Given the description of an element on the screen output the (x, y) to click on. 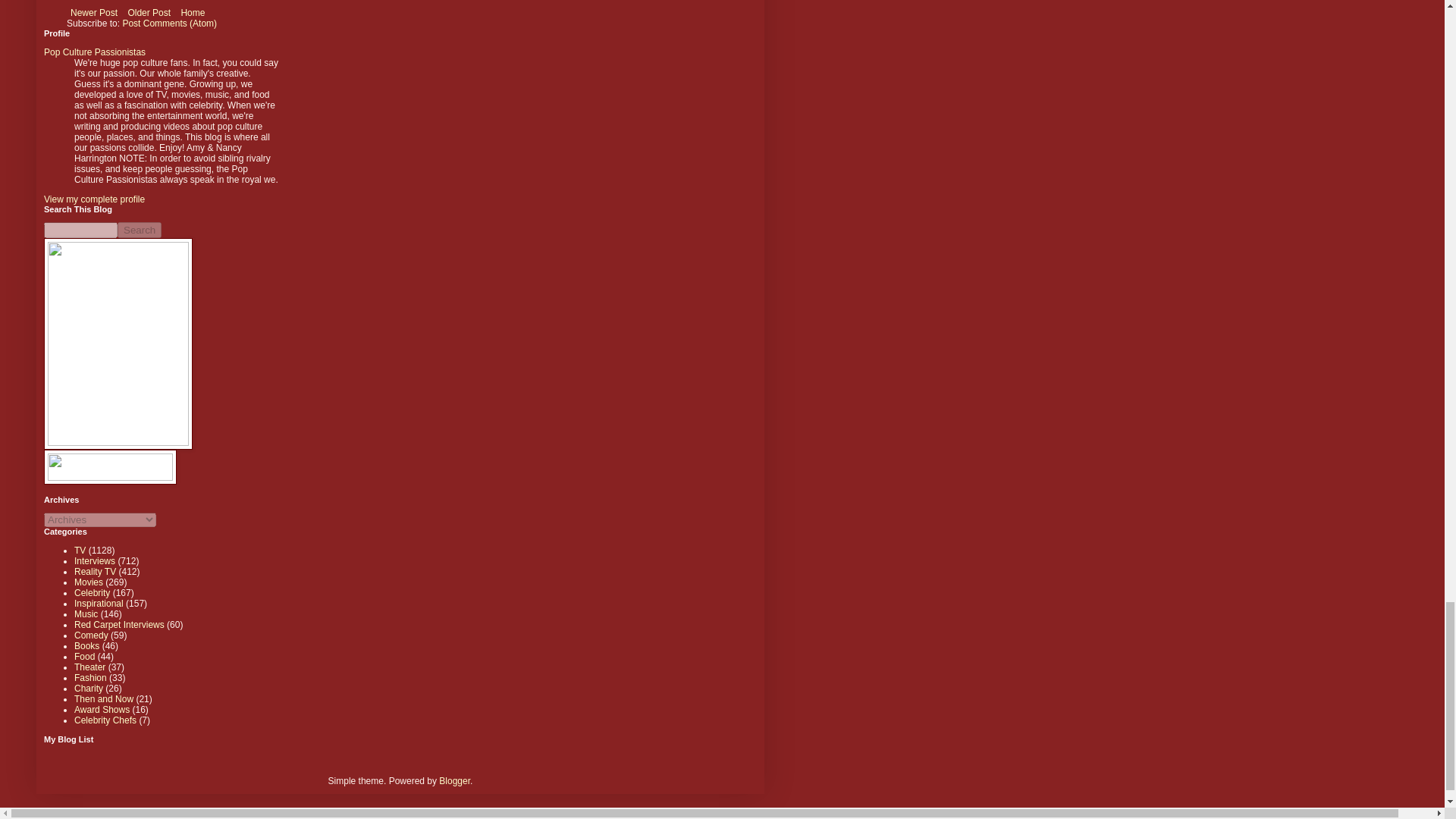
Celebrity (92, 593)
View my complete profile (93, 199)
Home (192, 13)
Books (86, 645)
Music (85, 614)
Movies (88, 582)
search (80, 229)
Interviews (94, 561)
Search (139, 229)
Inspirational (98, 603)
Newer Post (93, 13)
Older Post (148, 13)
Food (84, 656)
Comedy (90, 634)
Red Carpet Interviews (119, 624)
